Given the description of an element on the screen output the (x, y) to click on. 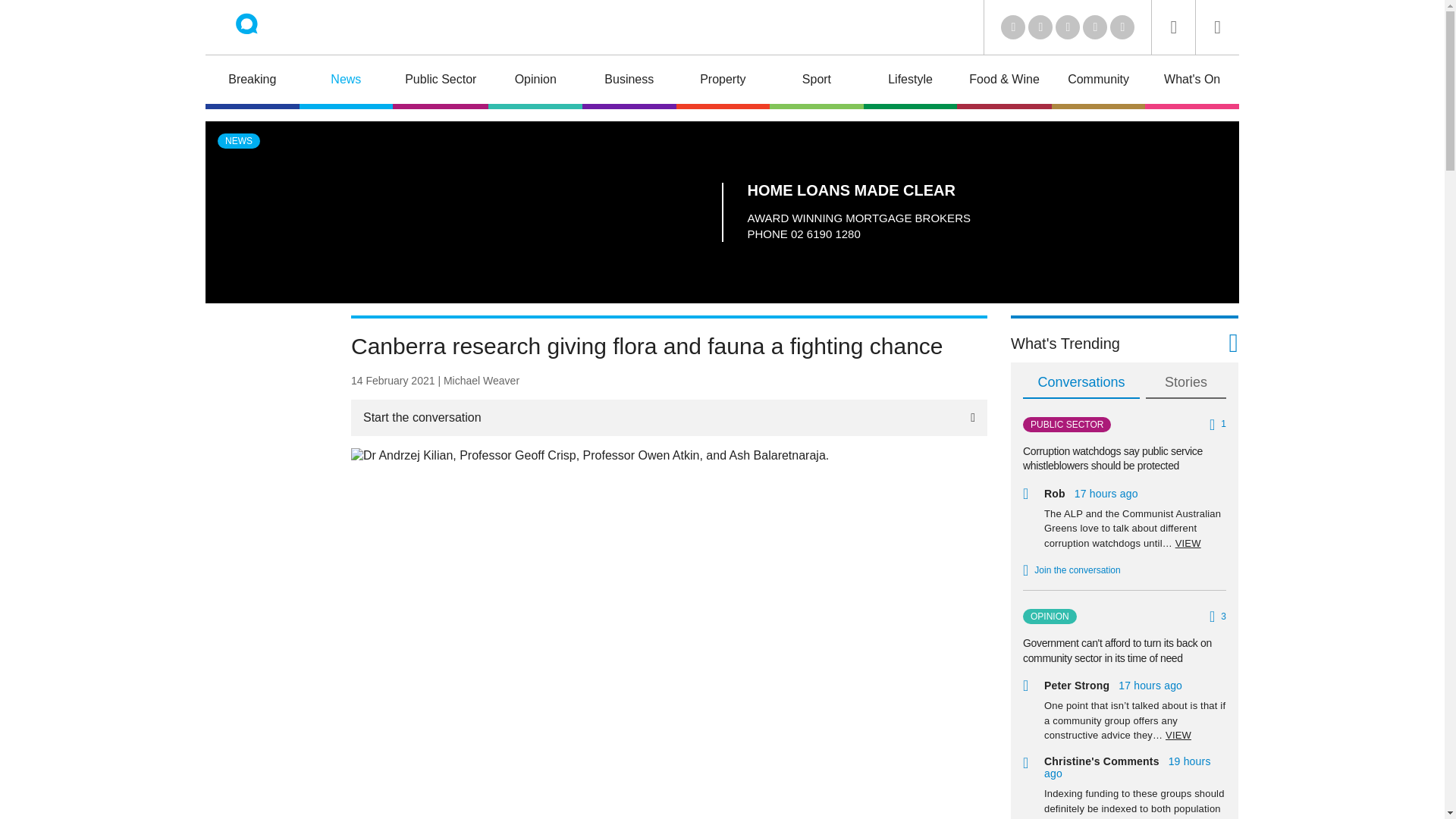
Facebook (1094, 27)
Riotact Home (267, 26)
Youtube (1067, 27)
News (346, 81)
LinkedIn (1013, 27)
Breaking (252, 81)
Instagram (1121, 27)
Twitter (1039, 27)
